Given the description of an element on the screen output the (x, y) to click on. 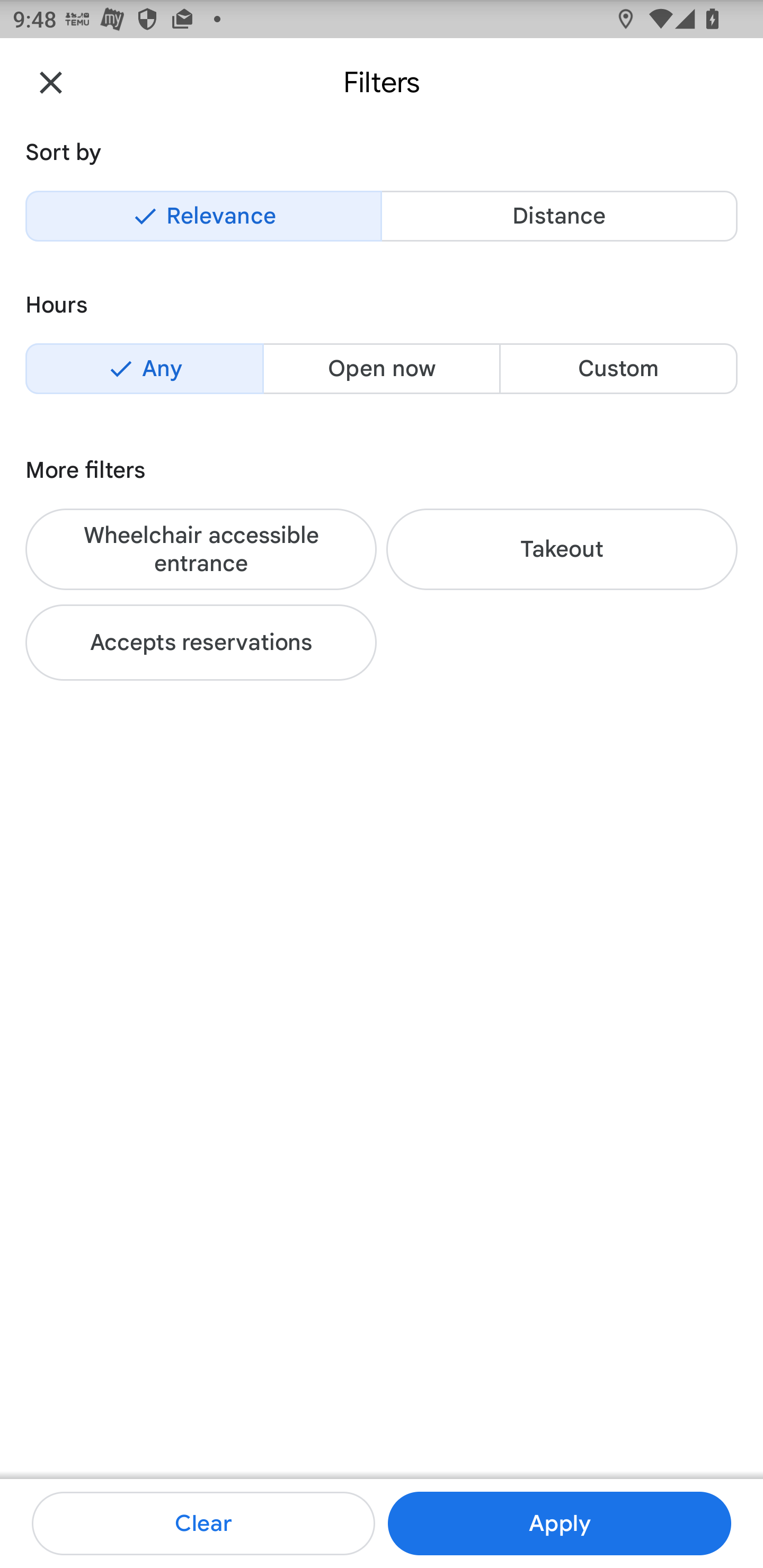
Close menu (50, 81)
Relevance (203, 216)
Distance (558, 216)
Any (144, 368)
Open now (381, 368)
Custom (618, 368)
Wheelchair accessible entrance (200, 548)
Takeout (561, 548)
Accepts reservations (200, 641)
Clear Clear Clear (203, 1522)
Apply Apply Apply (558, 1522)
